Given the description of an element on the screen output the (x, y) to click on. 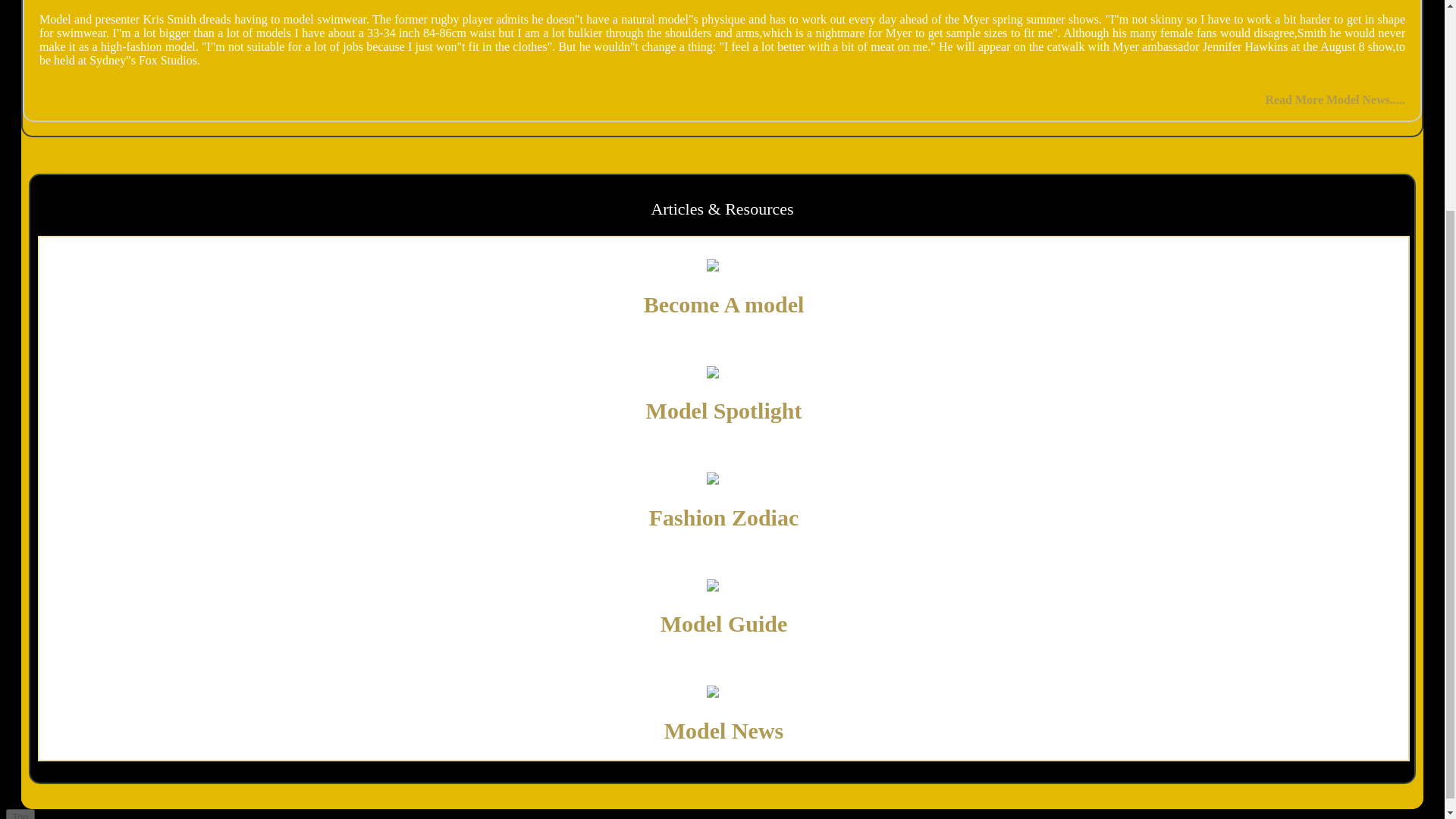
Model Guide (724, 623)
Man (723, 479)
Become A model (724, 303)
Model Spotlight (724, 410)
Fashion Zodiac (724, 517)
Man (723, 373)
Man (723, 265)
Man (723, 585)
Man (723, 692)
Model News (723, 730)
Read More Model News..... (1335, 99)
